Given the description of an element on the screen output the (x, y) to click on. 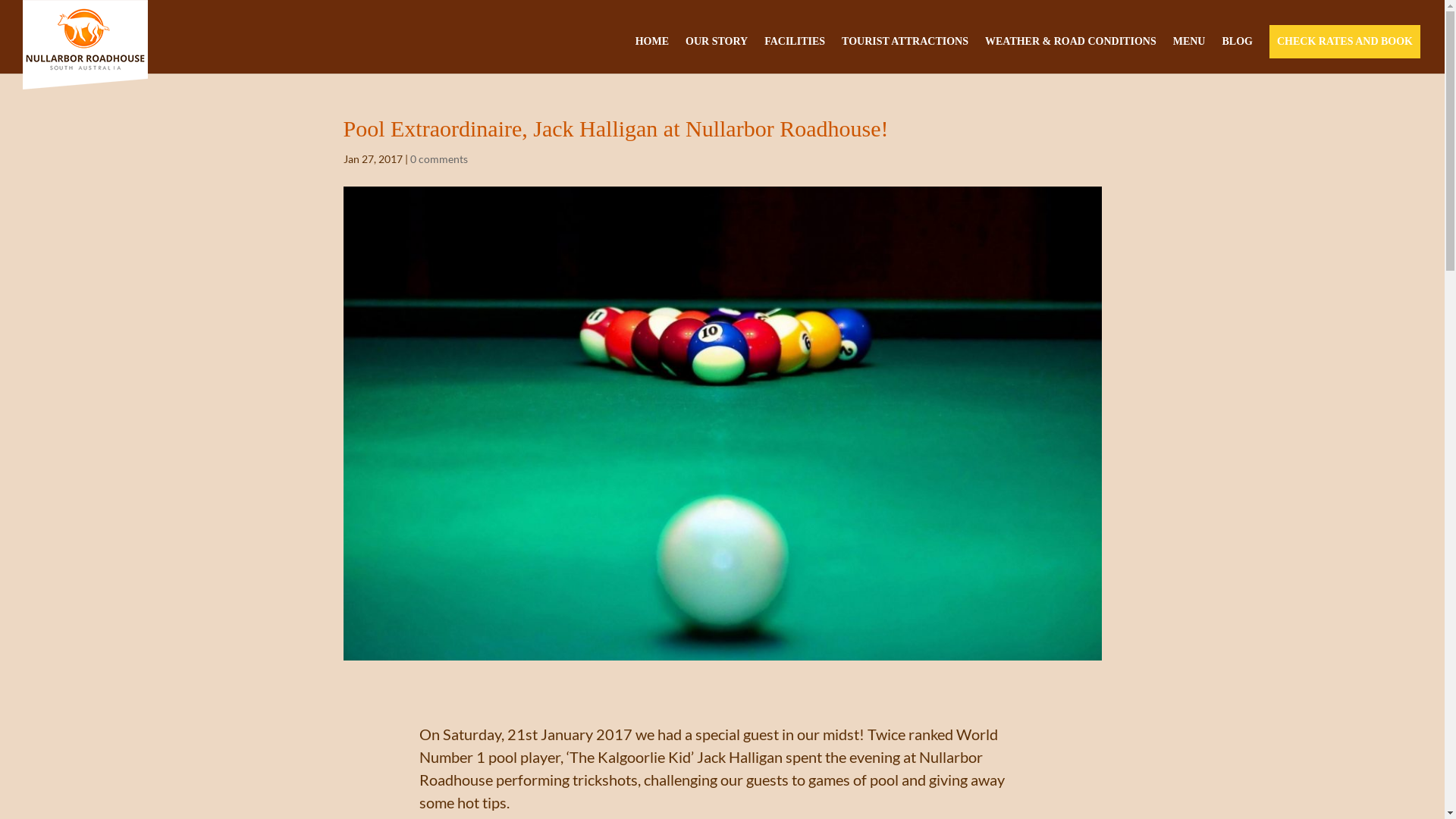
TOURIST ATTRACTIONS Element type: text (904, 47)
WEATHER & ROAD CONDITIONS Element type: text (1070, 47)
FACILITIES Element type: text (794, 47)
BLOG Element type: text (1236, 47)
0 comments Element type: text (438, 158)
OUR STORY Element type: text (716, 47)
MENU Element type: text (1189, 47)
HOME Element type: text (651, 47)
CHECK RATES AND BOOK Element type: text (1344, 47)
